Given the description of an element on the screen output the (x, y) to click on. 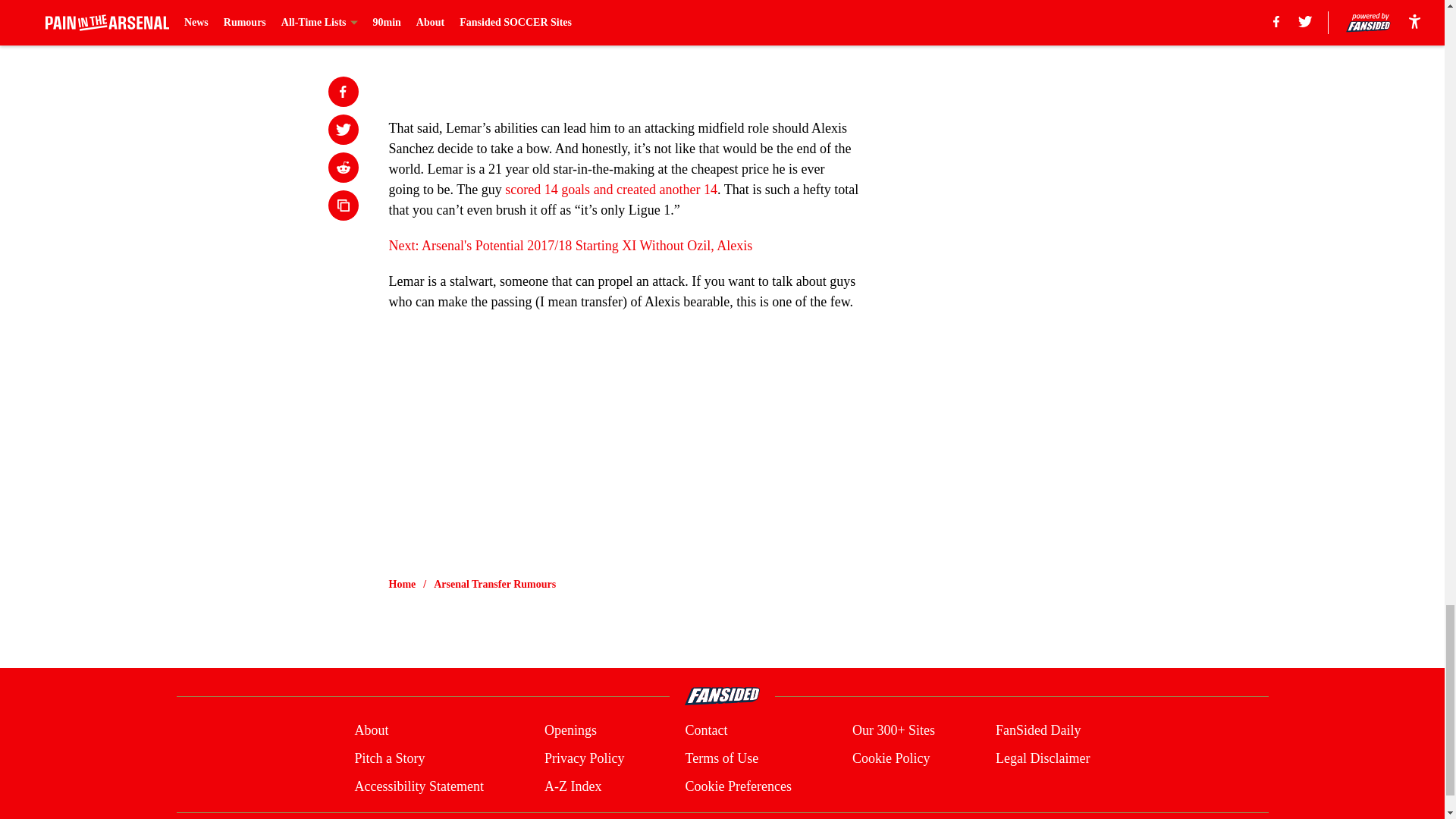
About (370, 730)
Home (401, 584)
Arsenal Transfer Rumours (494, 584)
scored 14 goals and created another 14 (611, 189)
